Given the description of an element on the screen output the (x, y) to click on. 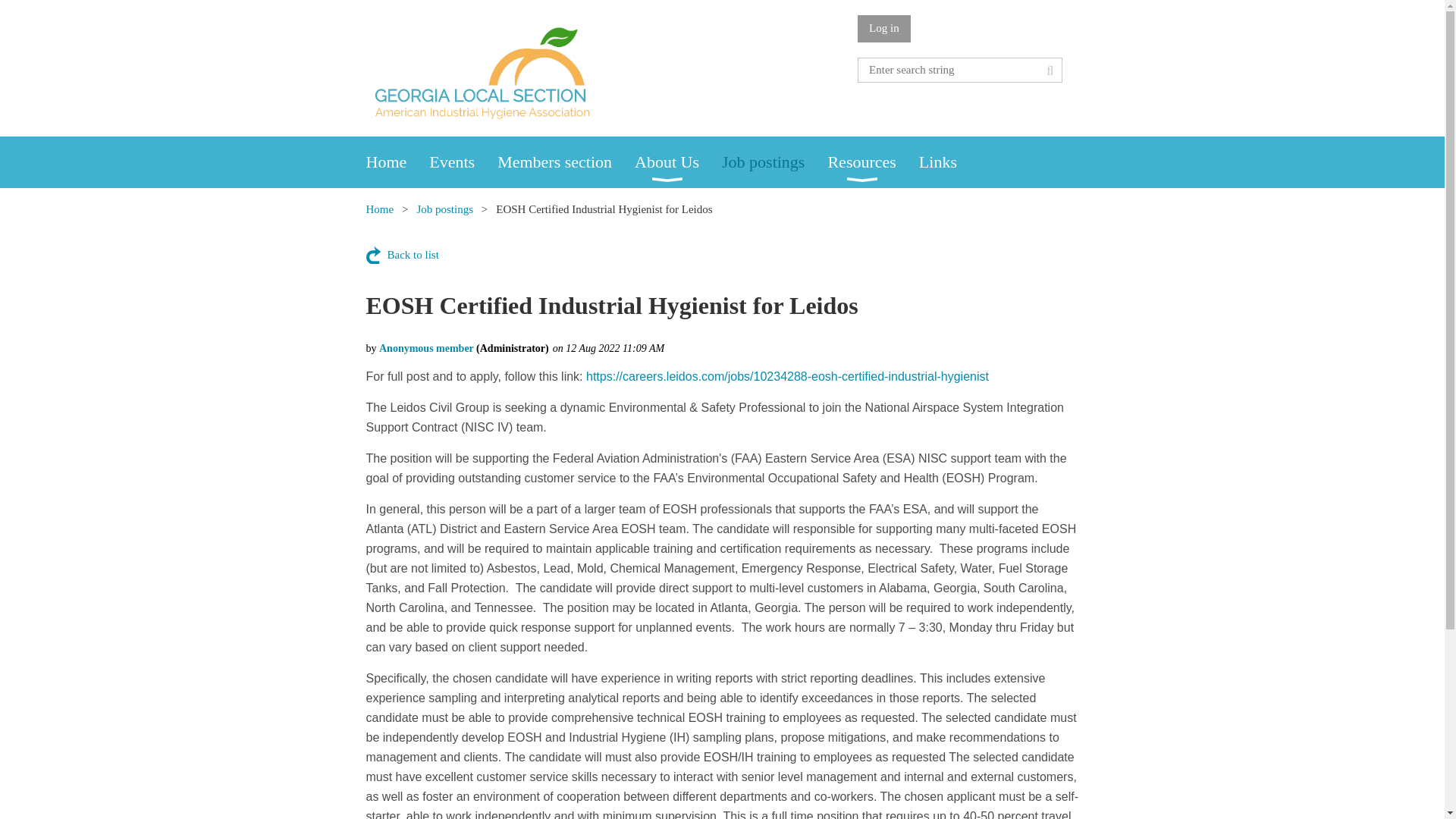
Job postings (774, 162)
Back to list (401, 254)
About Us (678, 162)
Home (397, 162)
Events  (463, 162)
Links (948, 162)
Job postings (444, 209)
Home (379, 209)
Log in (884, 28)
Events (463, 162)
